Given the description of an element on the screen output the (x, y) to click on. 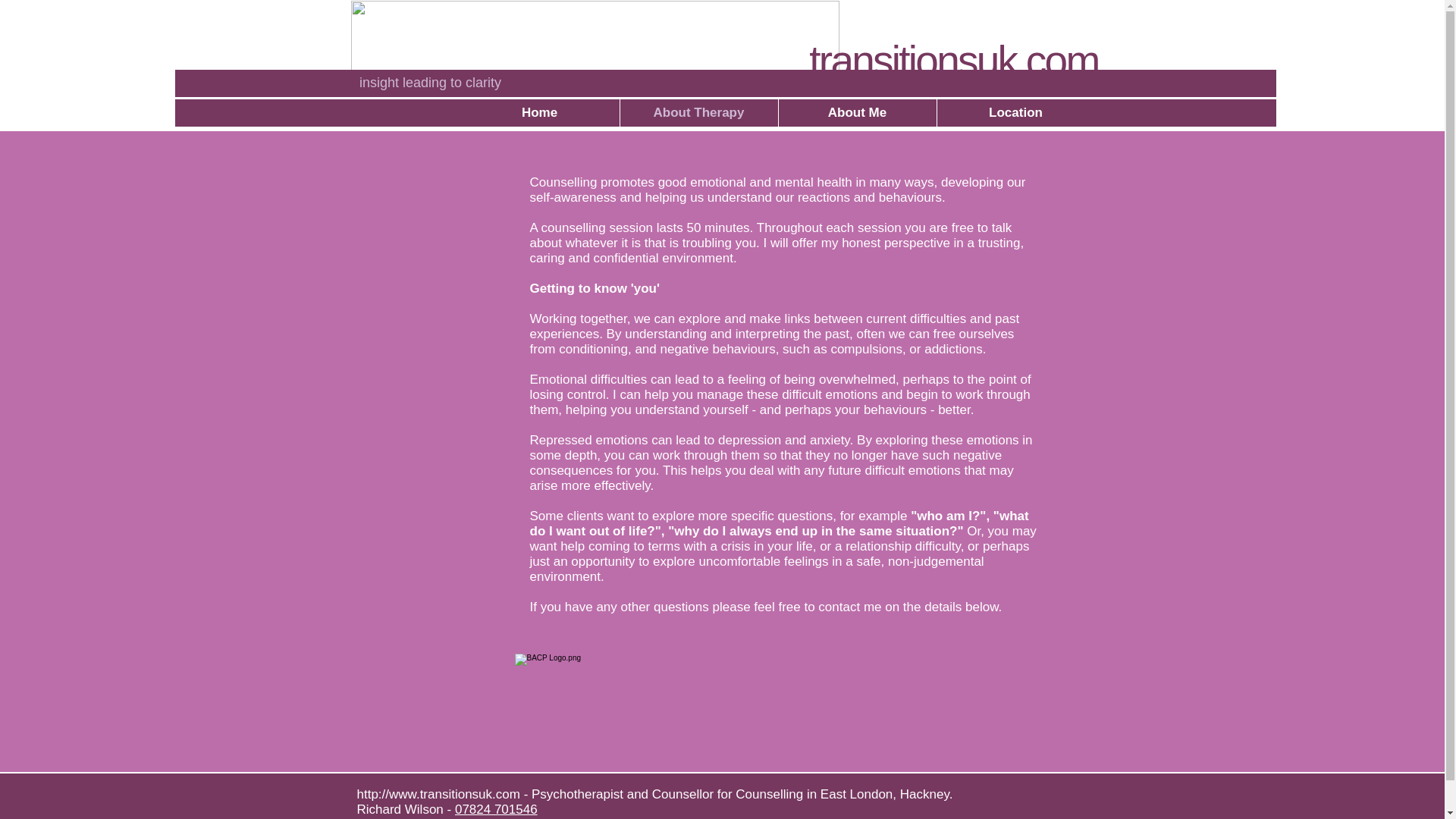
About Me (856, 112)
About Therapy (697, 112)
Location (1015, 112)
Home (539, 112)
transitionsuk.com (953, 60)
07824 701546 (495, 809)
